Given the description of an element on the screen output the (x, y) to click on. 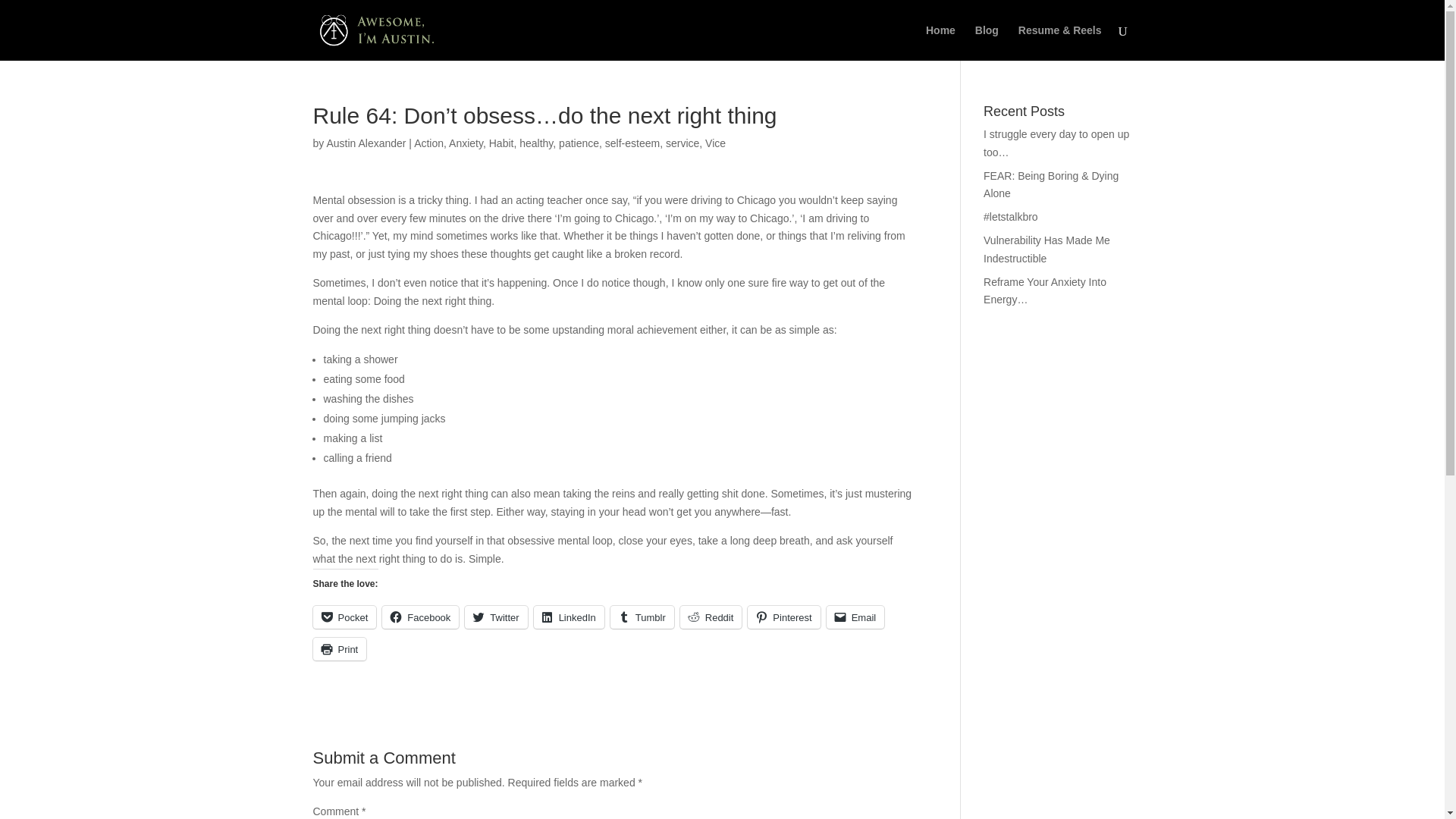
Email (856, 617)
Tumblr (642, 617)
service (681, 143)
Pinterest (783, 617)
Austin Alexander (366, 143)
Click to share on Facebook (419, 617)
Click to print (339, 649)
Print (339, 649)
Pocket (344, 617)
Click to share on Twitter (495, 617)
Vice (714, 143)
Reddit (710, 617)
Click to share on Pinterest (783, 617)
Habit (501, 143)
patience (578, 143)
